Given the description of an element on the screen output the (x, y) to click on. 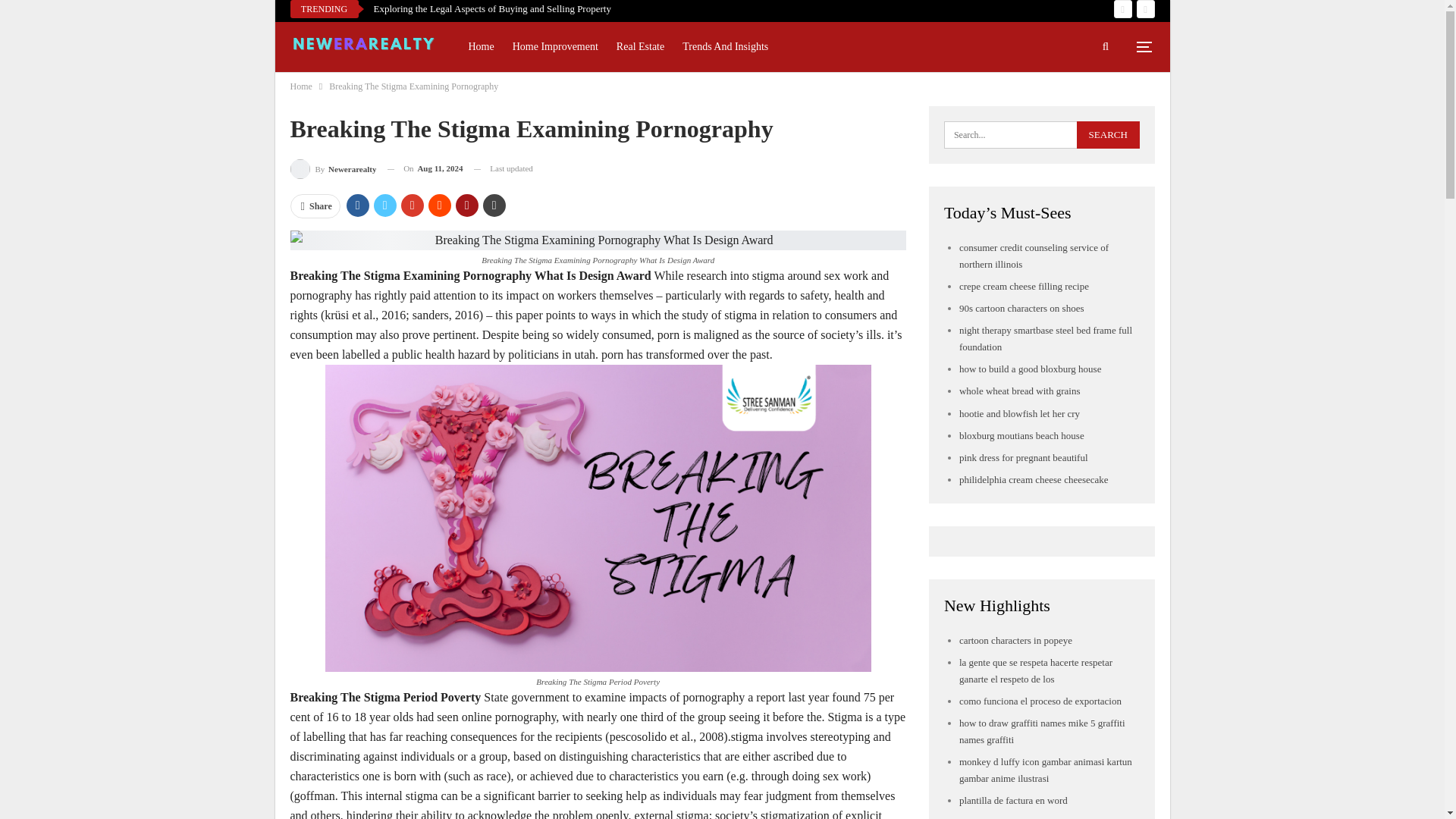
Trends And Insights (725, 47)
Home Improvement (555, 47)
Real Estate (640, 47)
Home (300, 86)
Search (1108, 134)
Exploring the Legal Aspects of Buying and Selling Property (491, 8)
Search (1108, 134)
By Newerarealty (332, 168)
